Given the description of an element on the screen output the (x, y) to click on. 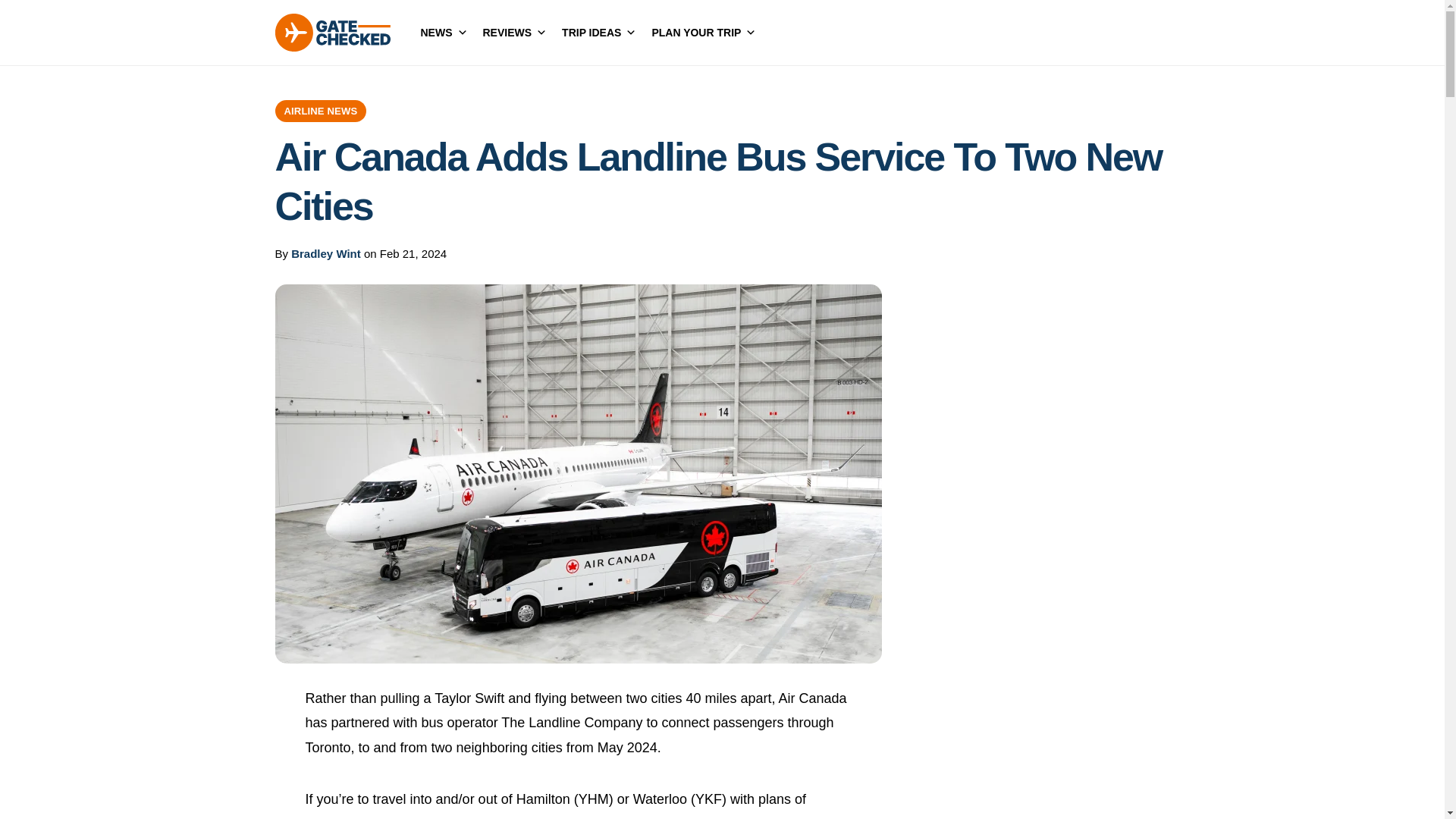
PLAN YOUR TRIP (702, 32)
REVIEWS (514, 32)
Posts by Bradley Wint (326, 253)
NEWS (443, 32)
TRIP IDEAS (598, 32)
